Given the description of an element on the screen output the (x, y) to click on. 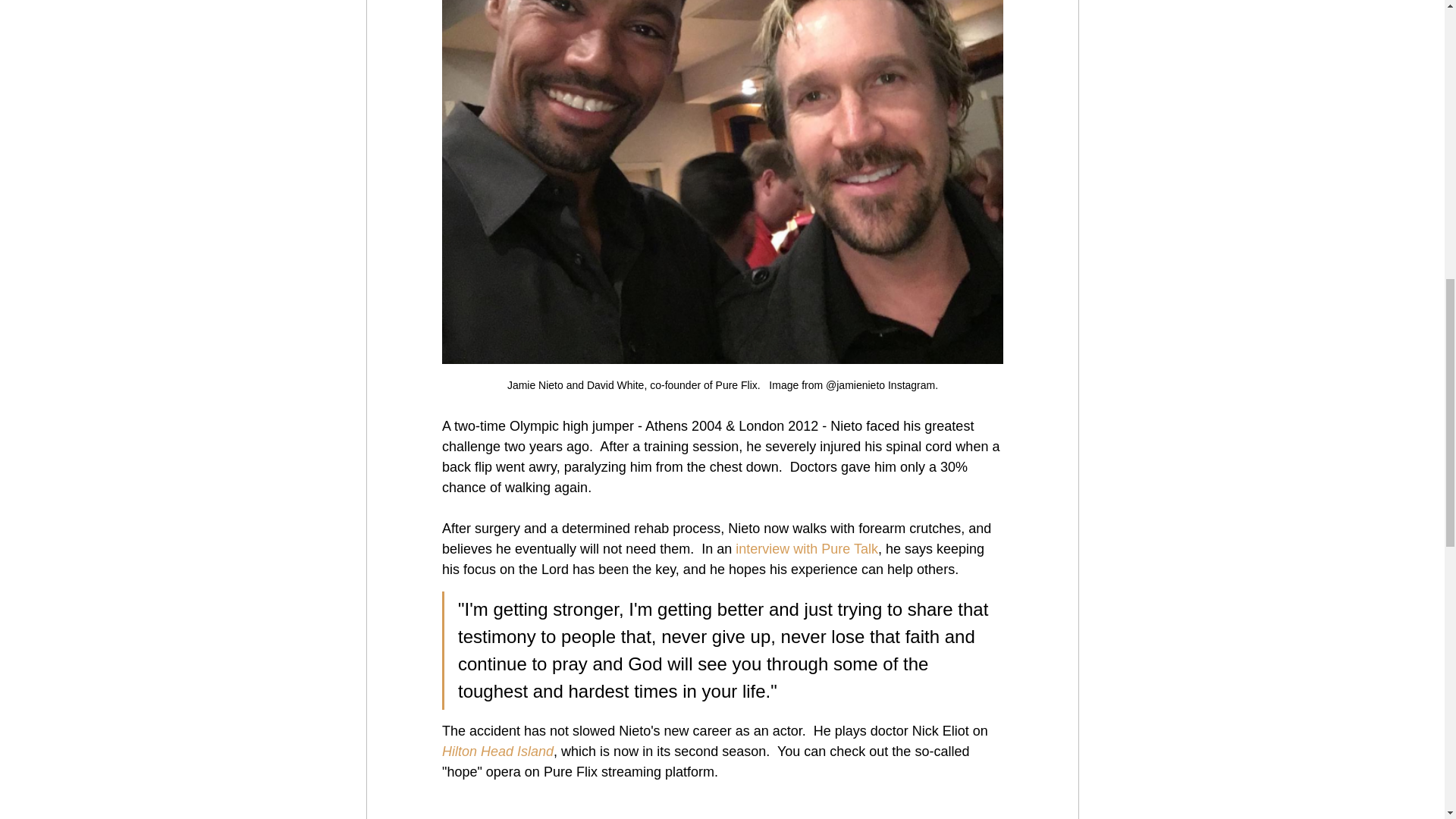
Hilton Head Island (497, 751)
interview with Pure Talk (806, 548)
